Given the description of an element on the screen output the (x, y) to click on. 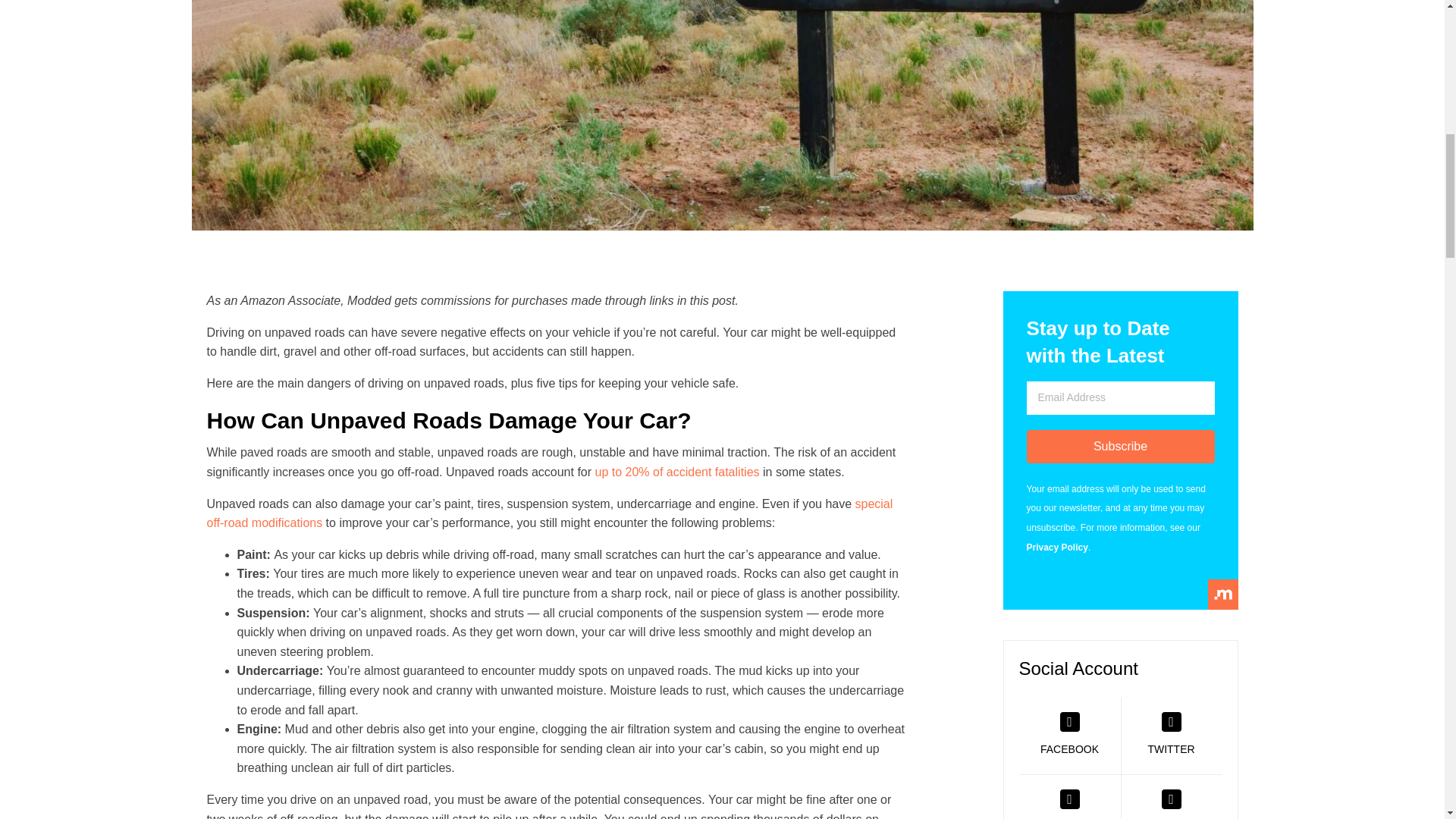
Subscribe (1120, 446)
Privacy Policy (1056, 547)
special off-road modifications (549, 513)
